Given the description of an element on the screen output the (x, y) to click on. 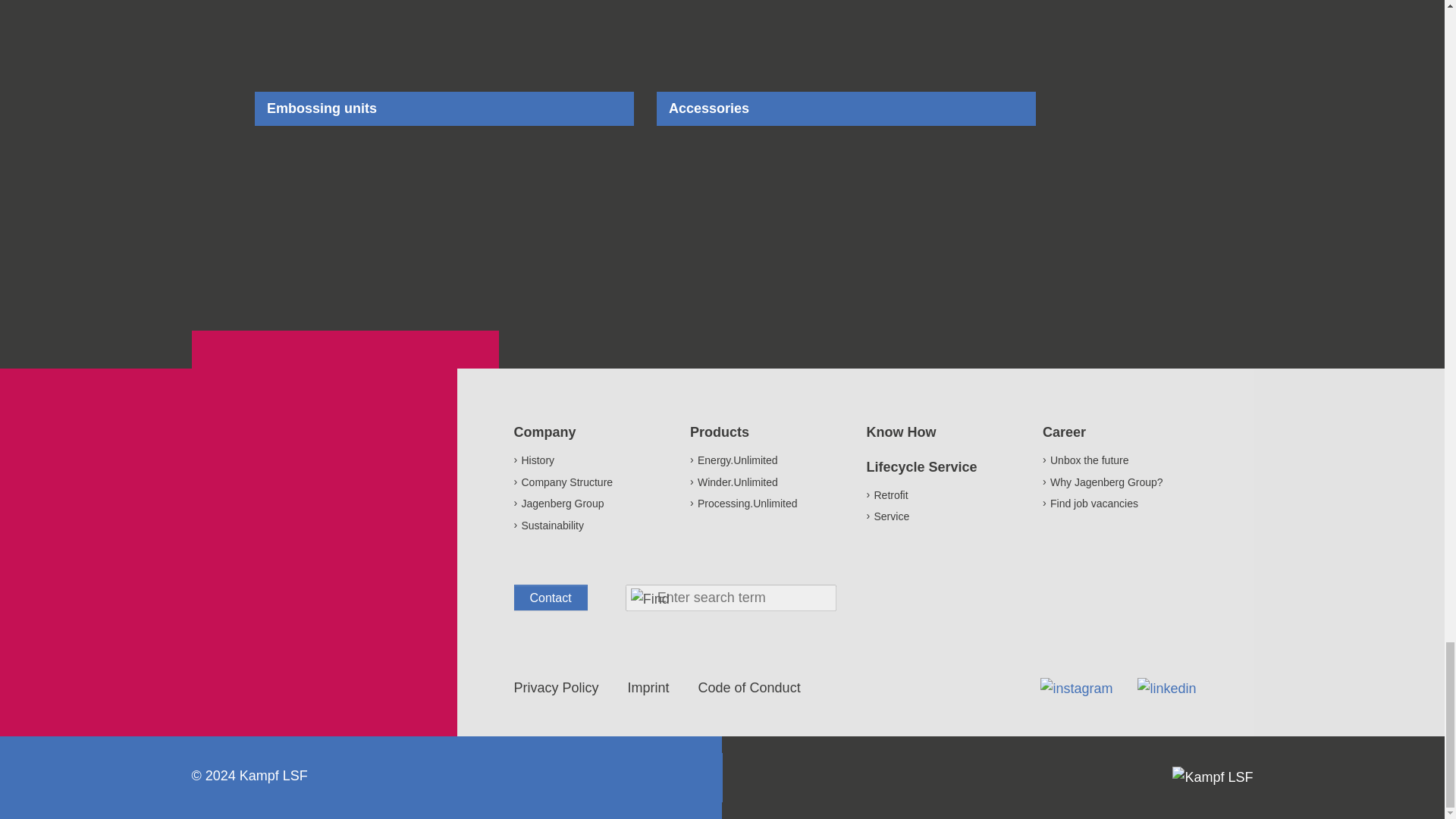
Send (649, 599)
